Given the description of an element on the screen output the (x, y) to click on. 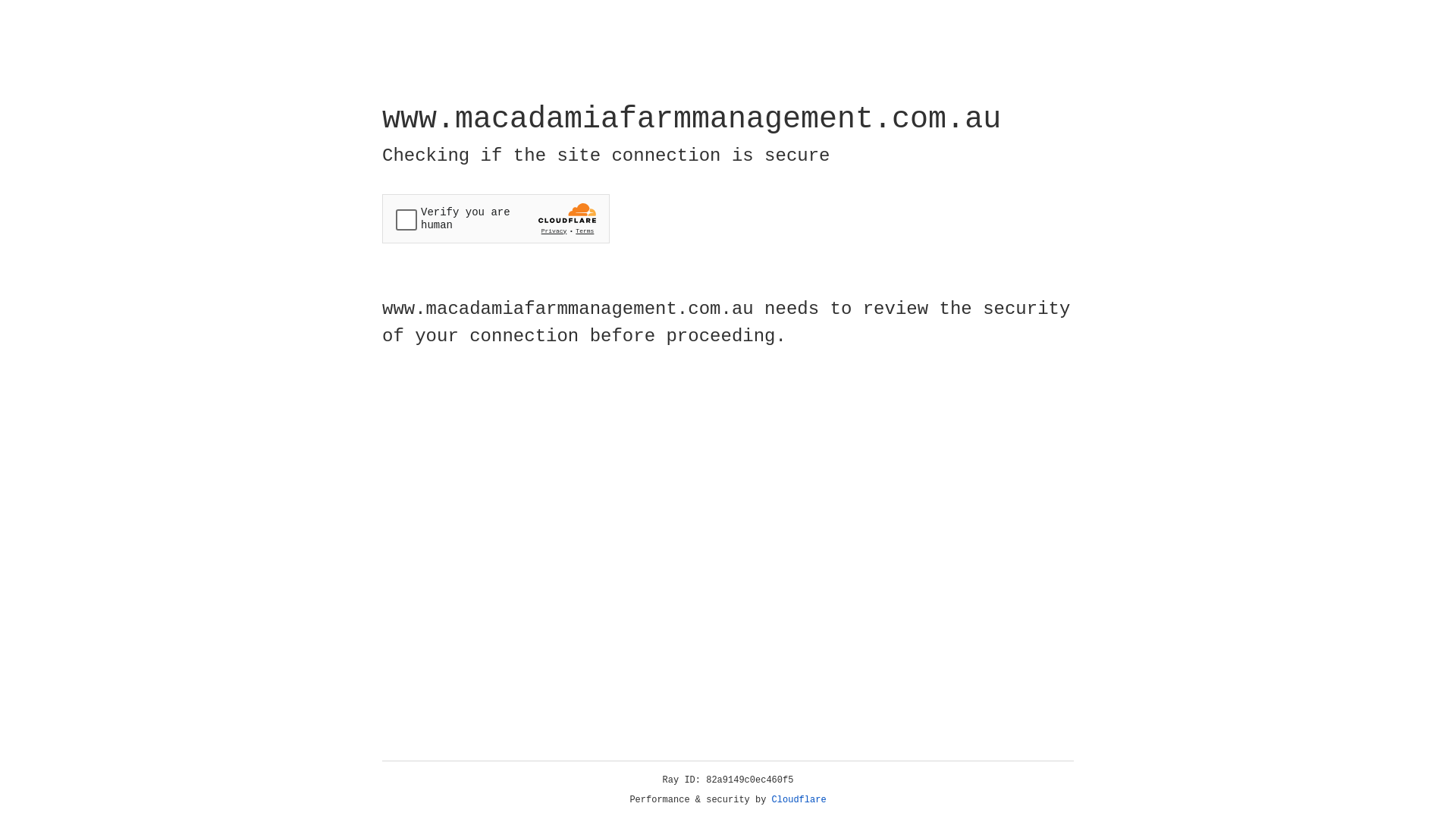
Widget containing a Cloudflare security challenge Element type: hover (495, 218)
Cloudflare Element type: text (798, 799)
